Given the description of an element on the screen output the (x, y) to click on. 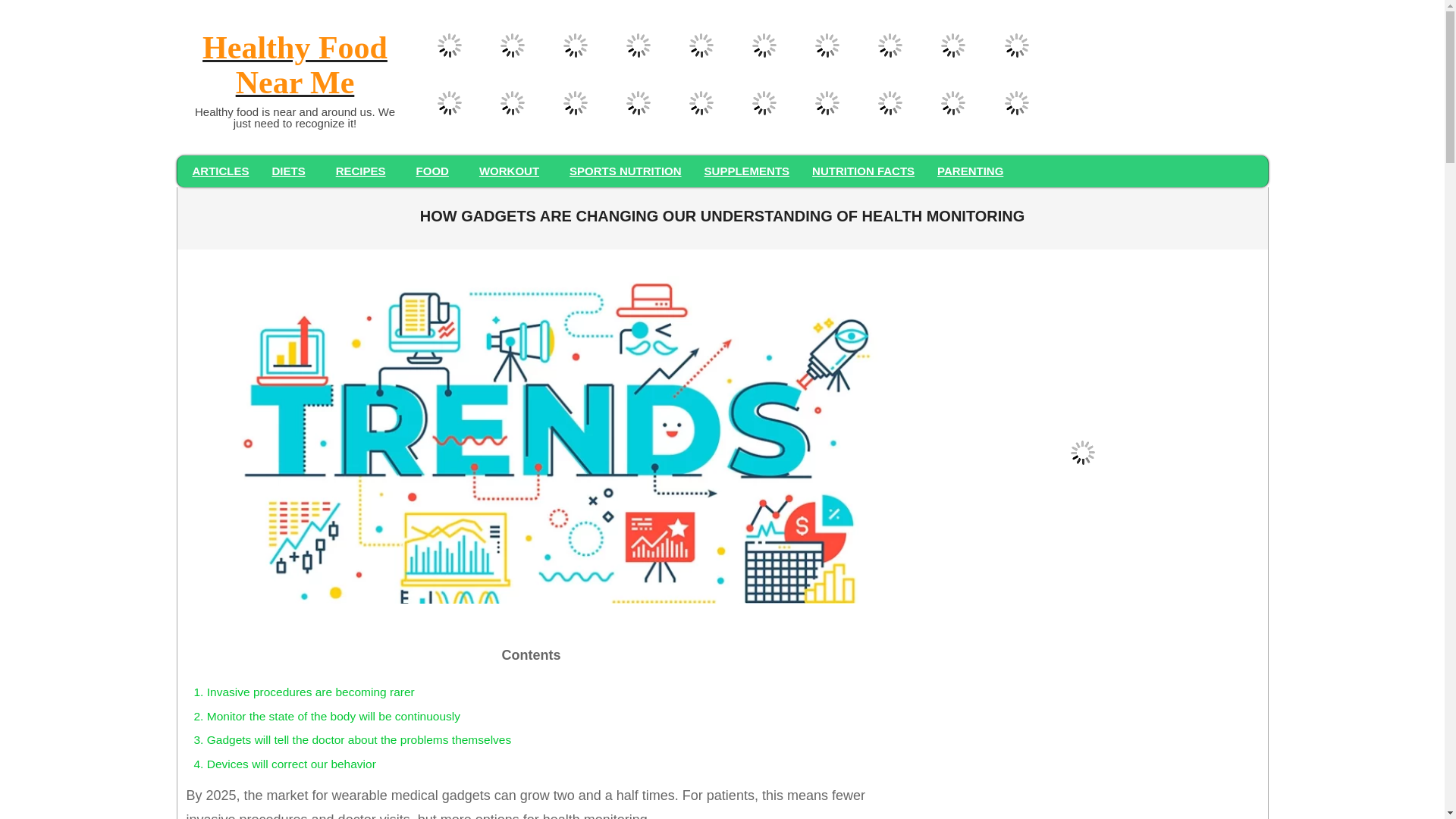
FOOD (435, 171)
ARTICLES (220, 171)
DIETS (292, 171)
Healthy Food Near Me (294, 67)
RECIPES (364, 171)
